Given the description of an element on the screen output the (x, y) to click on. 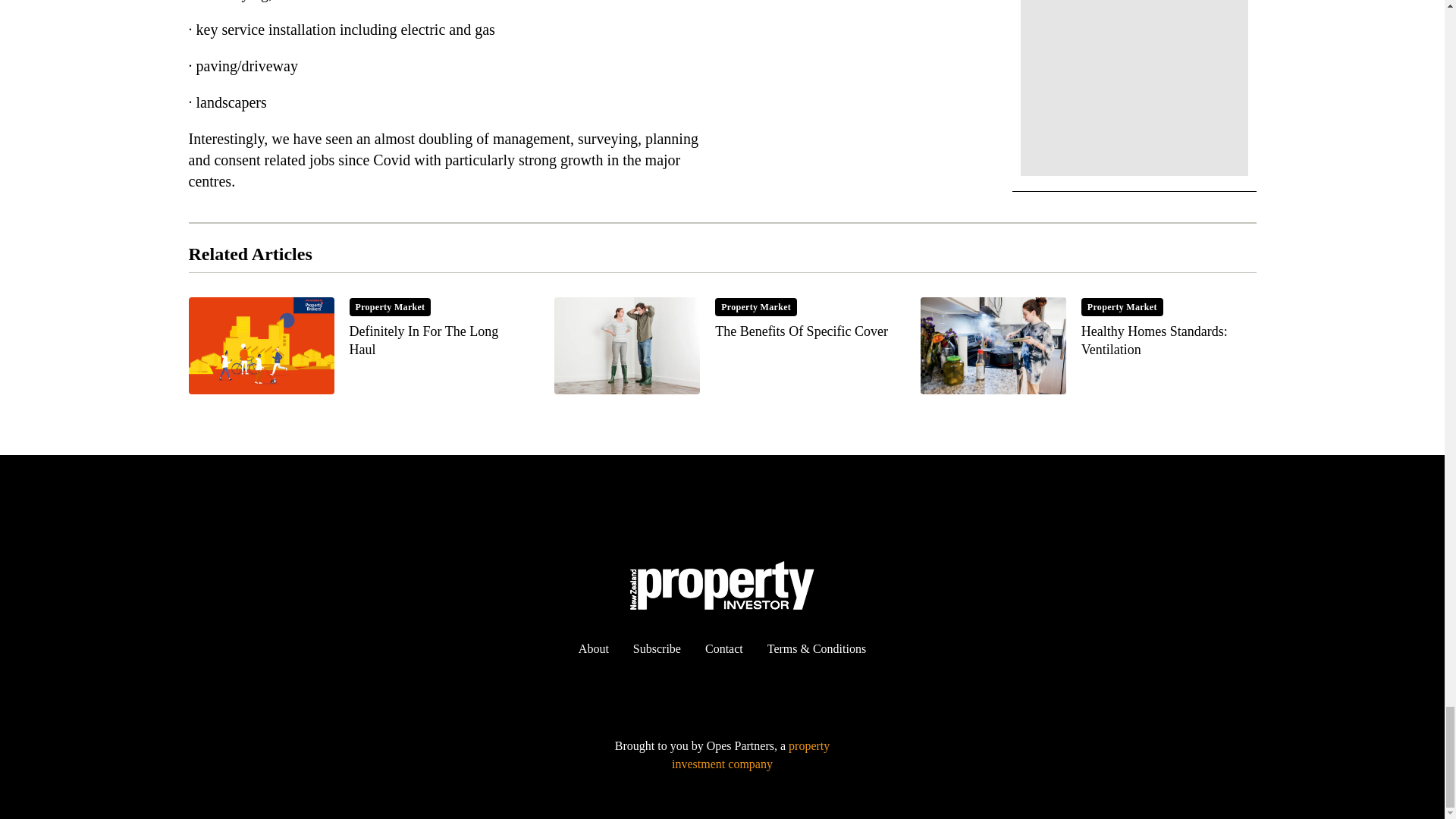
Contact (1088, 345)
Subscribe (723, 648)
About (355, 345)
property investment company (657, 648)
